Given the description of an element on the screen output the (x, y) to click on. 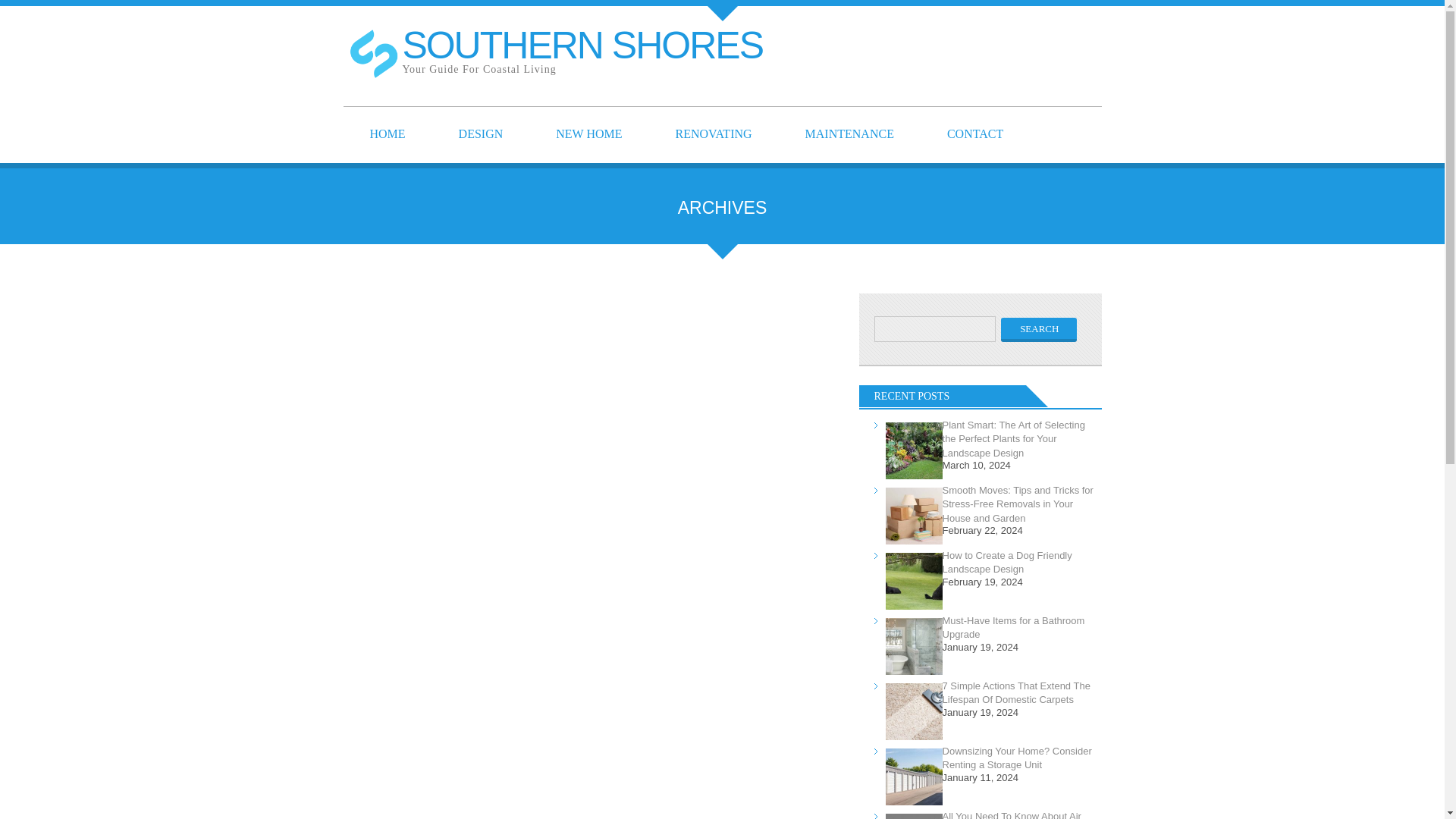
Search (1039, 329)
How to Create a Dog Friendly Landscape Design (1006, 561)
Downsizing Your Home? Consider Renting a Storage Unit (1017, 757)
MAINTENANCE (581, 50)
Must-Have Items for a Bathroom Upgrade (849, 134)
Search (1013, 627)
RENOVATING (1039, 329)
HOME (713, 134)
DESIGN (386, 134)
NEW HOME (480, 134)
